Given the description of an element on the screen output the (x, y) to click on. 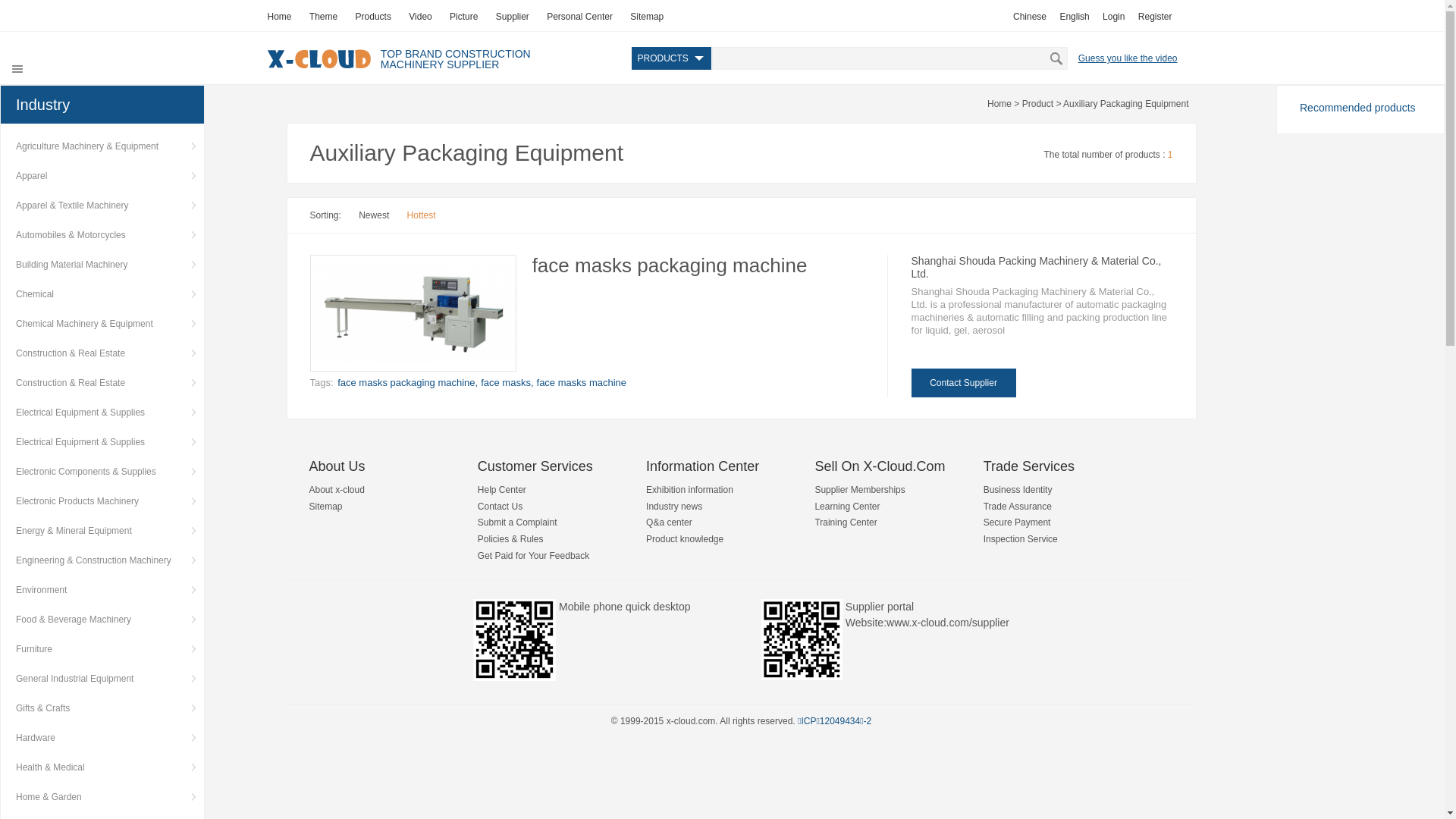
Industry news Element type: text (674, 506)
Energy & Mineral Equipment Element type: text (101, 530)
General Industrial Equipment Element type: text (101, 678)
Electronic Products Machinery Element type: text (101, 500)
Hardware Element type: text (101, 737)
Contact Supplier Element type: text (963, 382)
Chemical Element type: text (101, 293)
Guess you like the video Element type: text (1127, 56)
Exhibition information Element type: text (689, 489)
Construction & Real Estate Element type: text (101, 382)
Construction & Real Estate Element type: text (101, 352)
About Us Element type: text (337, 465)
Building Material Machinery Element type: text (101, 264)
Information Center Element type: text (702, 465)
Engineering & Construction Machinery Element type: text (101, 560)
Home Element type: text (999, 103)
Learning Center Element type: text (846, 506)
Supplier Element type: text (512, 16)
Health & Medical Element type: text (101, 767)
Agriculture Machinery & Equipment Element type: text (101, 145)
Trade Services Element type: text (1028, 465)
face masks packaging machine Element type: text (669, 265)
Hottest Element type: text (421, 215)
Sitemap Element type: text (646, 16)
Get Paid for Your Feedback Element type: text (533, 555)
face masks machine Element type: text (581, 382)
Sell On X-Cloud.Com Element type: text (879, 465)
Theme Element type: text (323, 16)
Environment Element type: text (101, 589)
Automobiles & Motorcycles Element type: text (101, 234)
Auxiliary Packaging Equipment Element type: text (1125, 103)
English Element type: text (1074, 16)
Food & Beverage Machinery Element type: text (101, 619)
Supplier Memberships Element type: text (859, 489)
Chinese Element type: text (1029, 16)
Business Identity Element type: text (1017, 489)
Products Element type: text (373, 16)
Electrical Equipment & Supplies Element type: text (101, 441)
face masks, Element type: text (506, 382)
Electrical Equipment & Supplies Element type: text (101, 412)
Customer Services Element type: text (535, 465)
Apparel & Textile Machinery Element type: text (101, 205)
Shanghai Shouda Packing Machinery & Material Co., Ltd. Element type: text (1036, 266)
Picture Element type: text (463, 16)
Inspection Service Element type: text (1020, 538)
Home Element type: text (278, 16)
Home & Garden Element type: text (101, 796)
Secure Payment Element type: text (1017, 522)
Personal Center Element type: text (579, 16)
Product knowledge Element type: text (684, 538)
Sitemap Element type: text (325, 506)
Contact Us Element type: text (499, 506)
About x-cloud Element type: text (336, 489)
Electronic Components & Supplies Element type: text (101, 471)
www.x-cloud.com/supplier Element type: text (947, 622)
Newest Element type: text (373, 215)
Register Element type: text (1154, 16)
Submit a Complaint Element type: text (517, 522)
Login Element type: text (1113, 16)
Training Center Element type: text (845, 522)
Furniture Element type: text (101, 648)
Apparel Element type: text (101, 175)
Policies & Rules Element type: text (510, 538)
Trade Assurance Element type: text (1017, 506)
Q&a center Element type: text (669, 522)
Chemical Machinery & Equipment Element type: text (101, 323)
face masks packaging machine, Element type: text (407, 382)
Help Center Element type: text (501, 489)
Gifts & Crafts Element type: text (101, 707)
Video Element type: text (419, 16)
Product Element type: text (1037, 103)
